Given the description of an element on the screen output the (x, y) to click on. 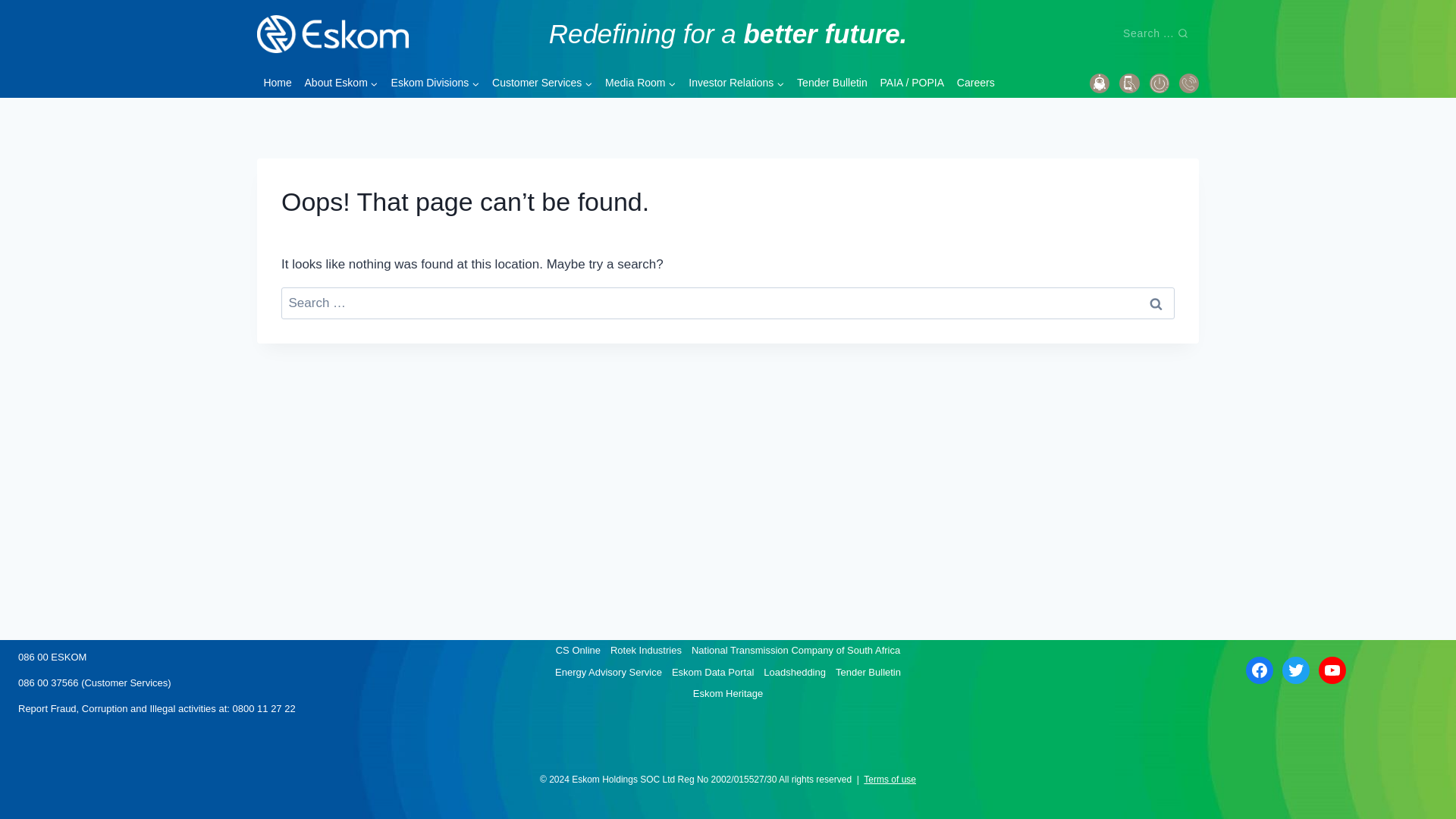
Search (1155, 303)
About Eskom (341, 82)
Home (277, 82)
Eskom Divisions (434, 82)
Search (1155, 303)
Search ... (1155, 33)
